Given the description of an element on the screen output the (x, y) to click on. 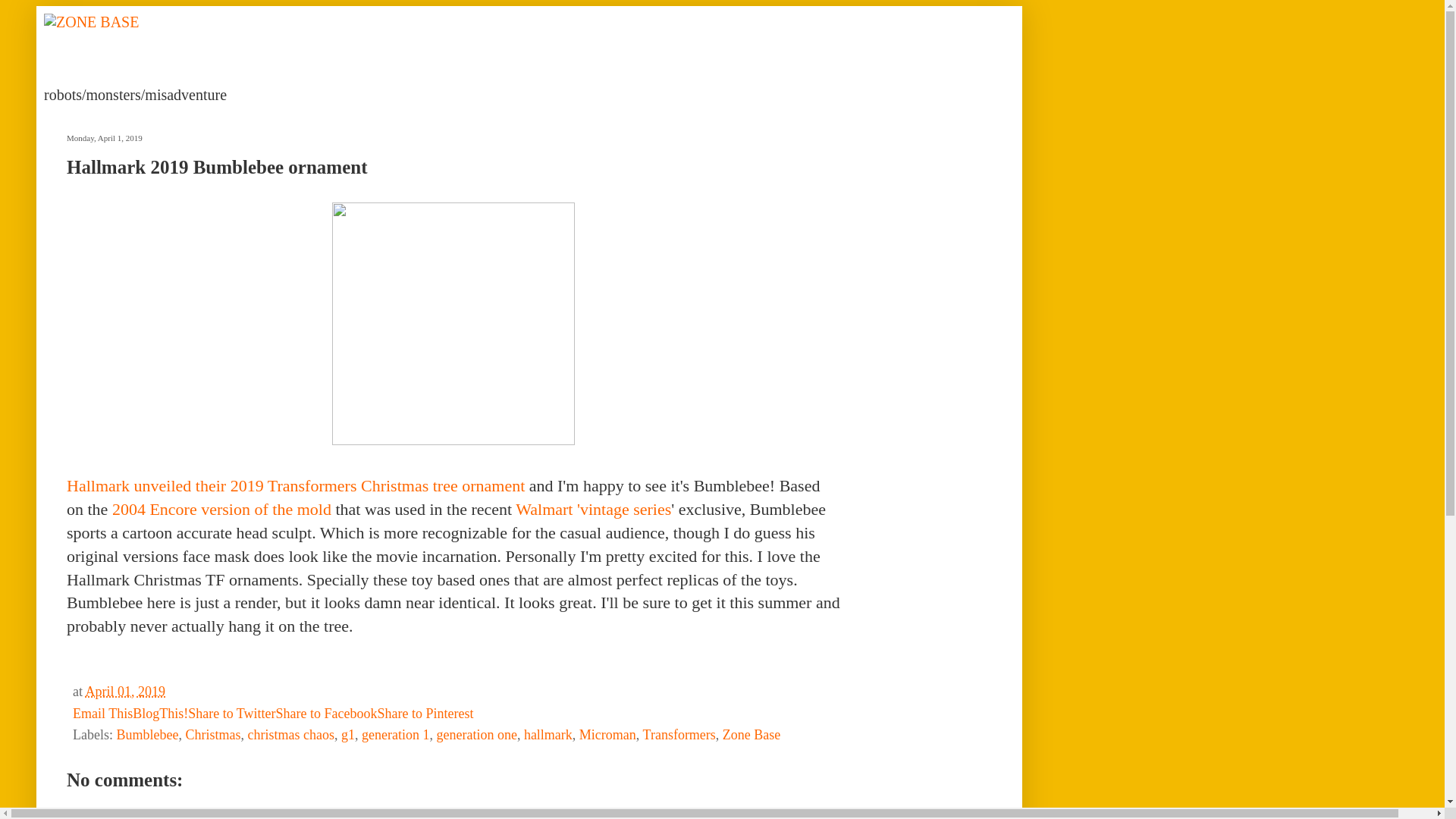
Share to Twitter (231, 713)
Christmas (212, 734)
generation 1 (395, 734)
Share to Twitter (231, 713)
generation one (475, 734)
Microman (607, 734)
Bumblebee (146, 734)
April 01, 2019 (124, 691)
Share to Pinterest (425, 713)
g1 (347, 734)
